Given the description of an element on the screen output the (x, y) to click on. 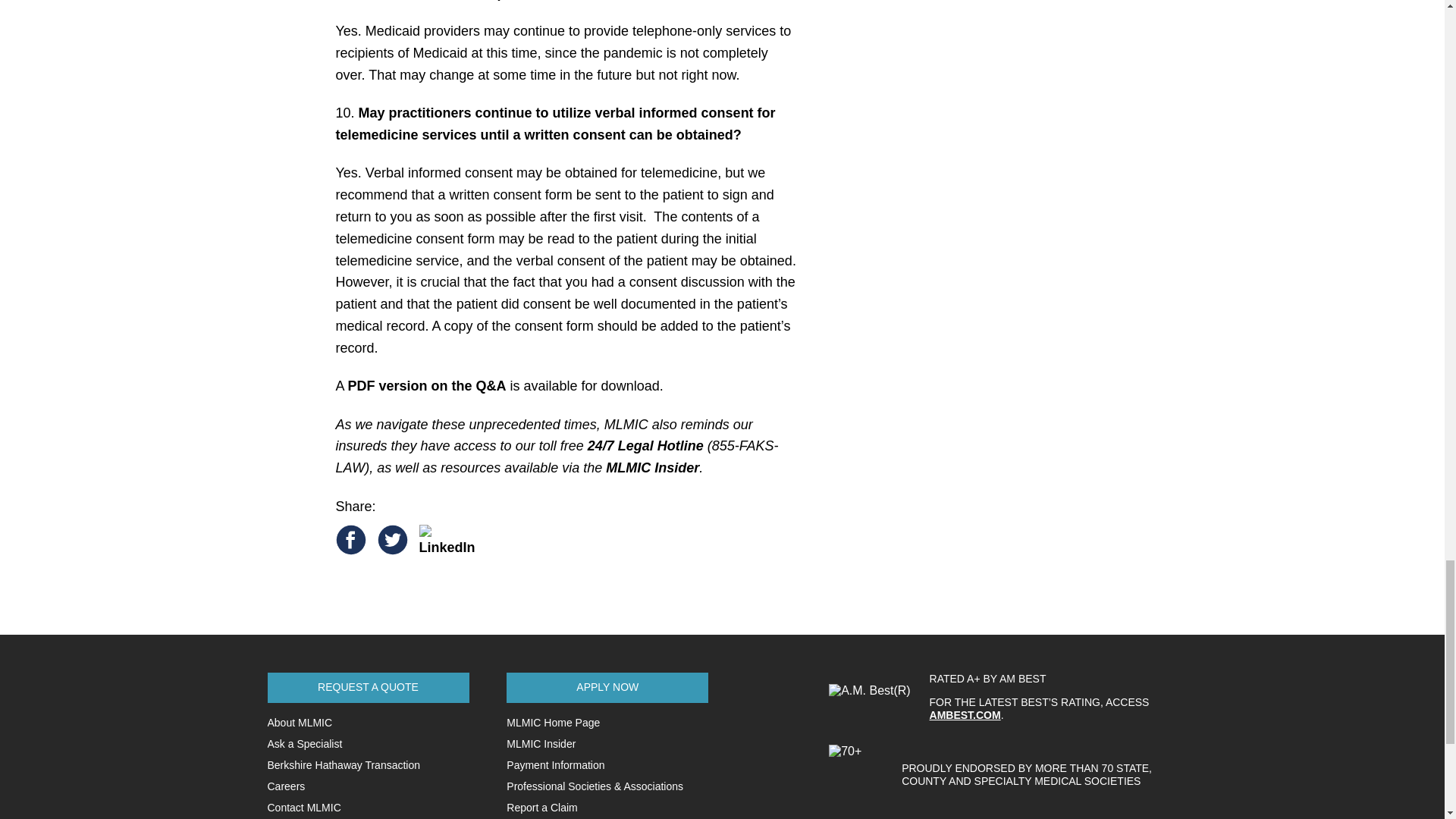
Ask a Specialist (304, 743)
MLMIC Insider (651, 467)
REQUEST A QUOTE (367, 687)
Contact MLMIC (303, 807)
About MLMIC (298, 722)
Berkshire Hathaway Transaction (343, 765)
Careers (285, 786)
